Given the description of an element on the screen output the (x, y) to click on. 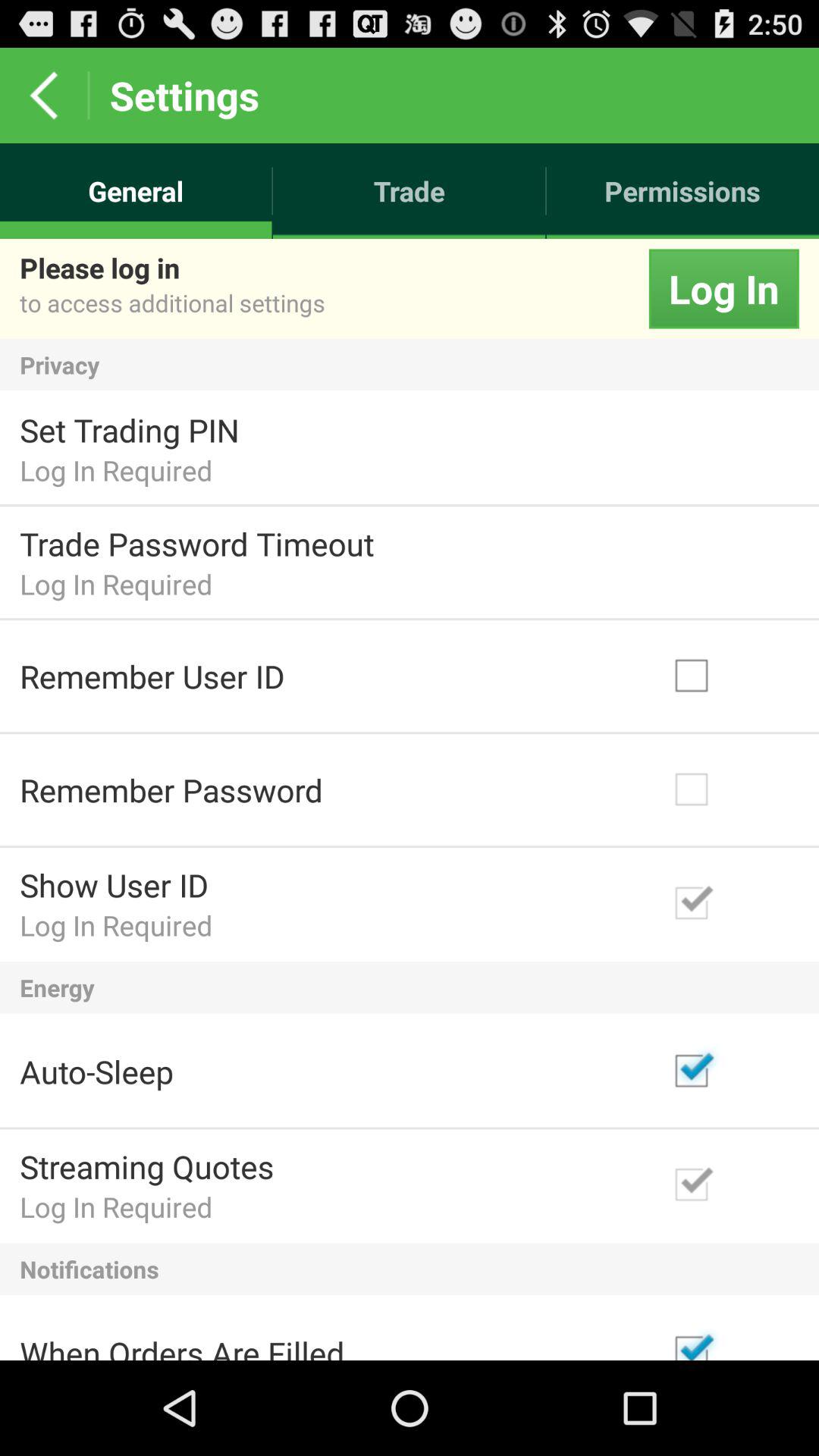
select permissions (682, 190)
